Given the description of an element on the screen output the (x, y) to click on. 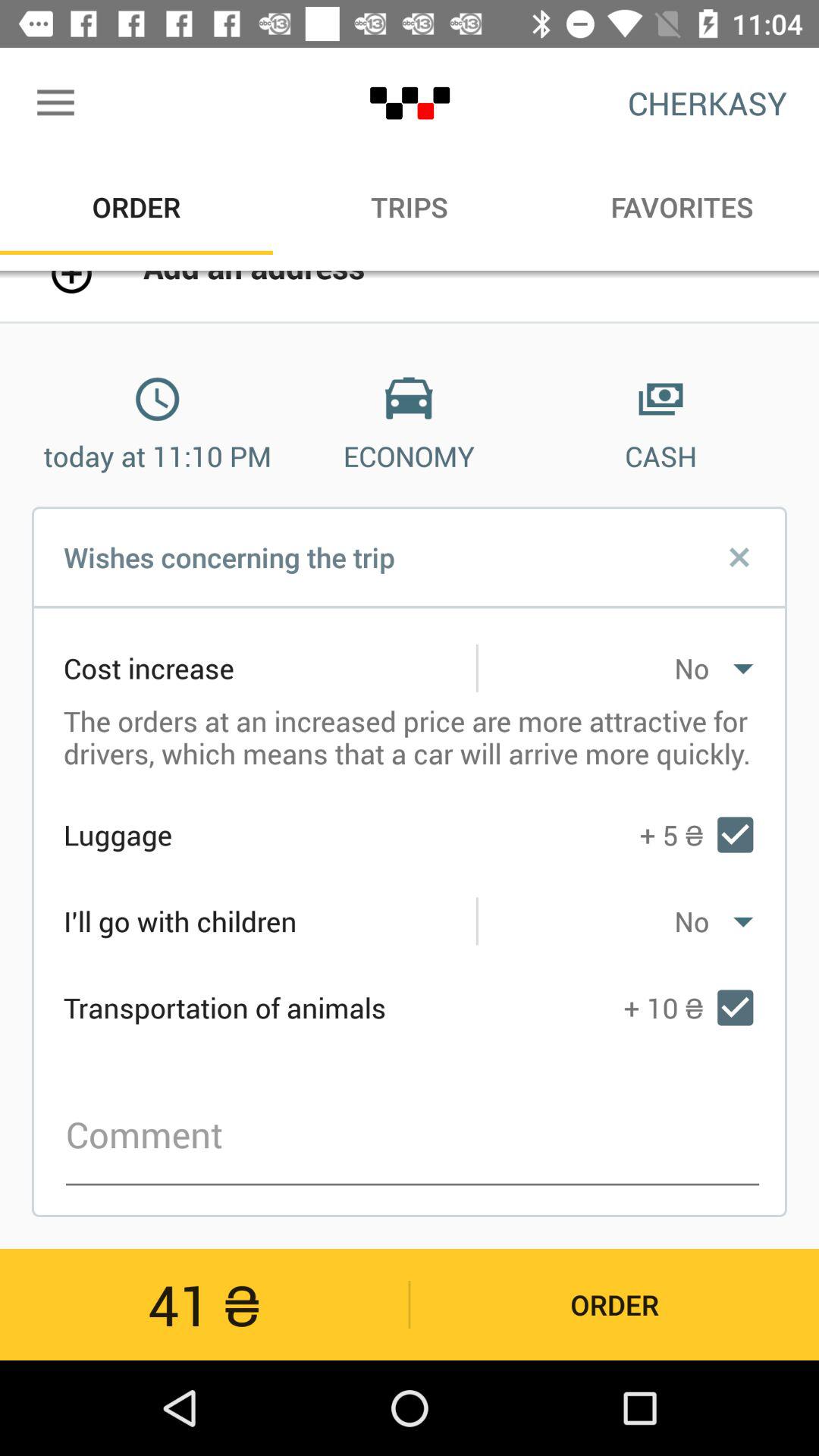
select item above the order icon (55, 103)
